Given the description of an element on the screen output the (x, y) to click on. 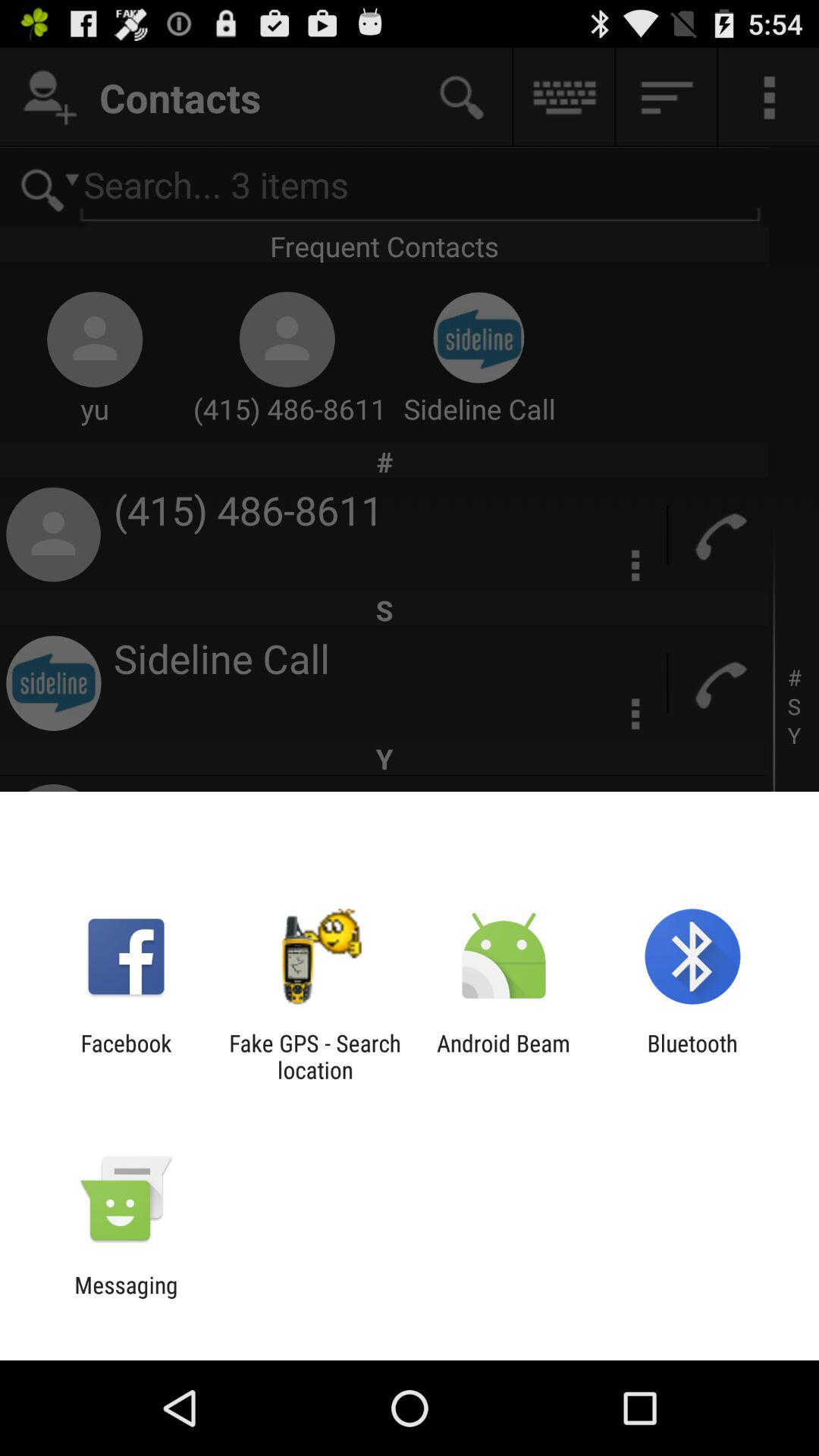
click item to the left of the android beam icon (314, 1056)
